Given the description of an element on the screen output the (x, y) to click on. 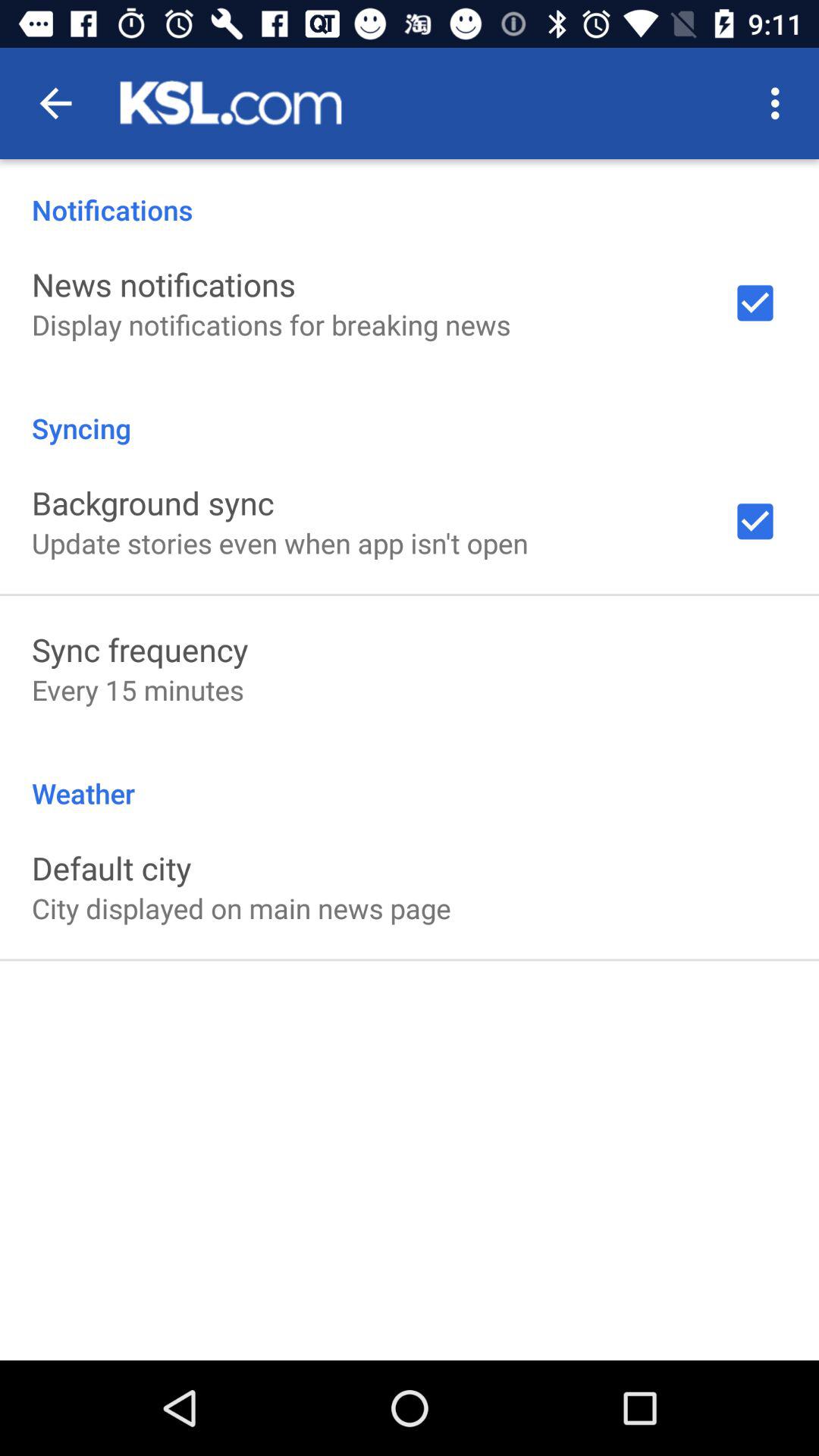
launch the item below news notifications app (270, 324)
